Given the description of an element on the screen output the (x, y) to click on. 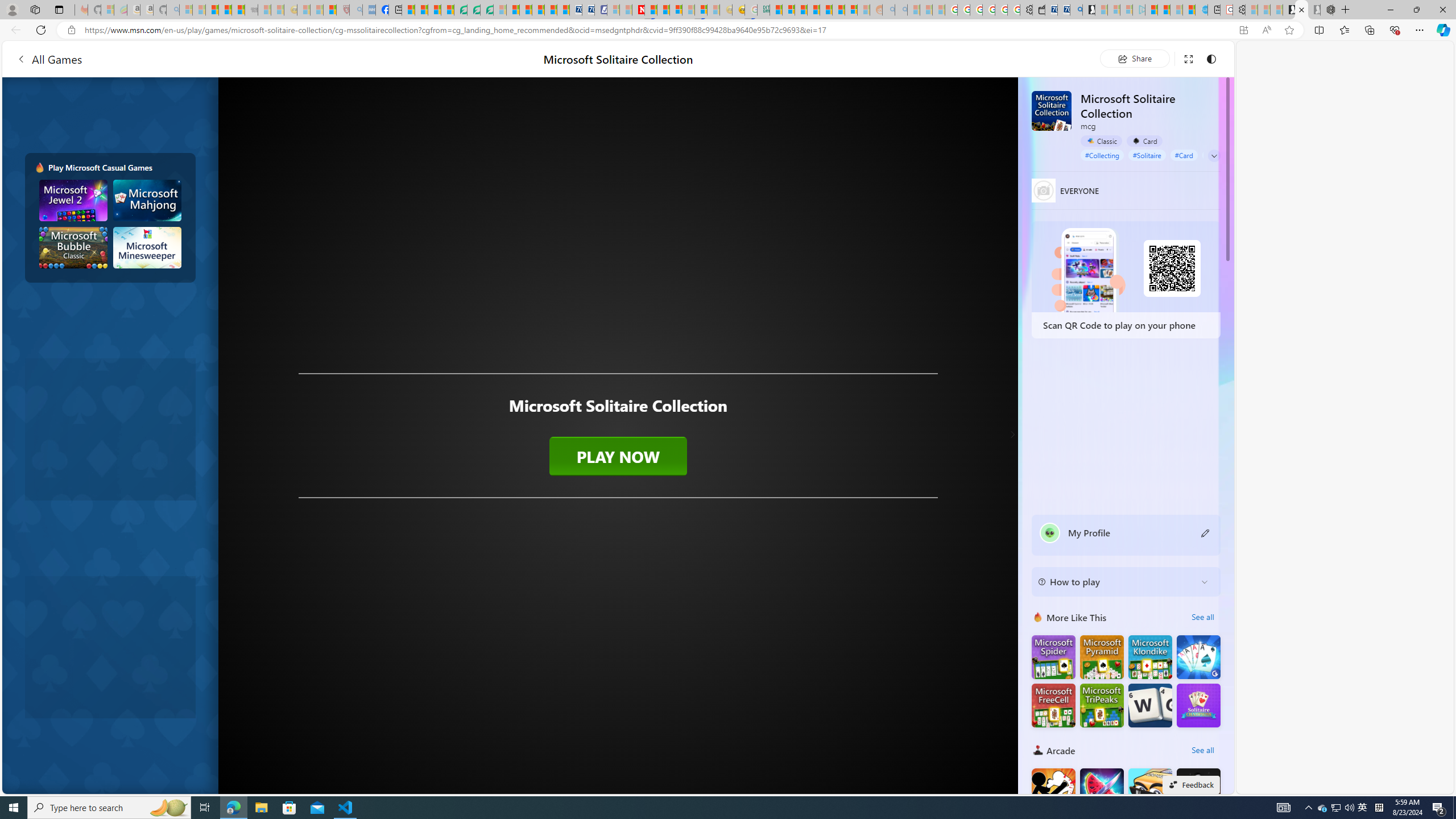
PLAY NOW (618, 456)
Microsoft Ultimate Word Games (1149, 705)
Microsoft TriPeaks Solitaire (1101, 705)
App available. Install Microsoft Solitaire Collection (1243, 29)
Student Loan Update: Forgiveness Program Ends This Month (813, 9)
Share (1134, 58)
Microsoft Minesweeper (147, 247)
